Given the description of an element on the screen output the (x, y) to click on. 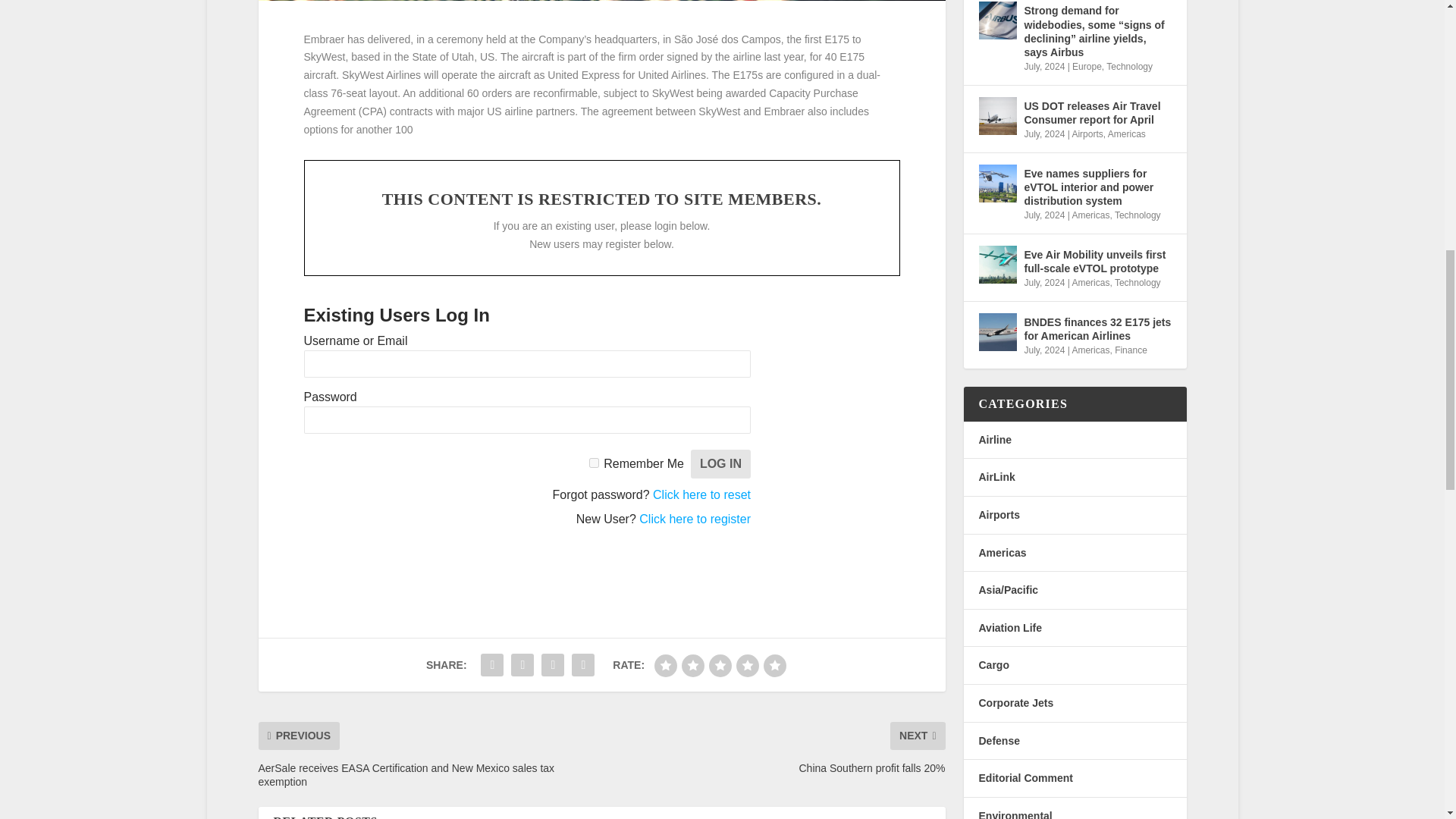
poor (692, 665)
Share "Embraer delivers first E-Jet to SkyWest" via Twitter (491, 665)
Share "Embraer delivers first E-Jet to SkyWest" via Email (552, 665)
Log In (720, 463)
bad (665, 665)
good (747, 665)
forever (593, 462)
Share "Embraer delivers first E-Jet to SkyWest" via Print (582, 665)
regular (720, 665)
gorgeous (774, 665)
Share "Embraer delivers first E-Jet to SkyWest" via LinkedIn (521, 665)
